Given the description of an element on the screen output the (x, y) to click on. 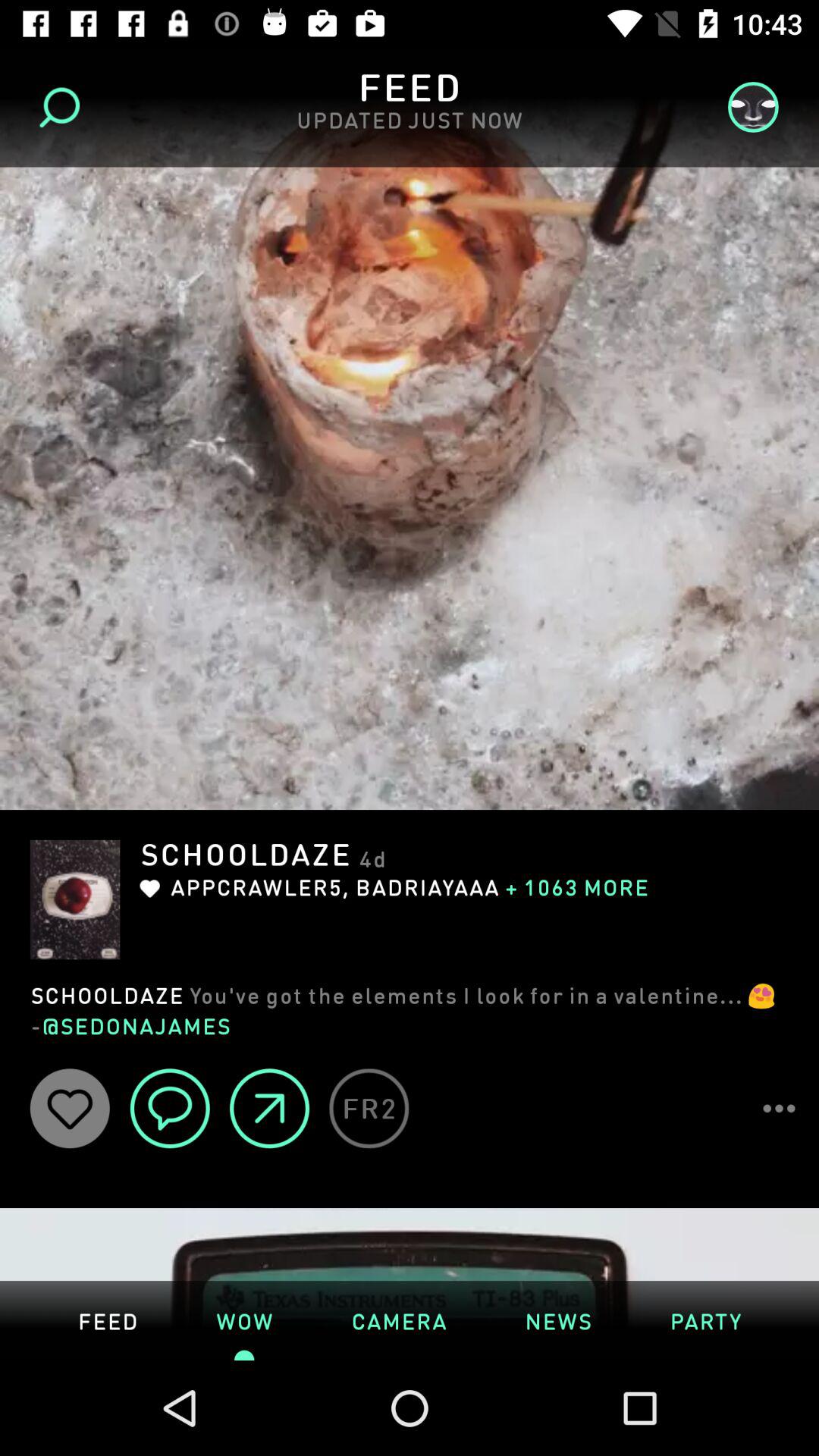
click on wow (244, 1320)
click on the heart icon (69, 1108)
click on fr2 icon (368, 1108)
select the button which is above the text wow (269, 1108)
select the second icon under the text sedonajames (169, 1108)
click on schooldazes comment sedonajames (409, 1009)
select the text party which is in the bottom (705, 1320)
click on the like button which is under the text schooldaze (149, 888)
